Given the description of an element on the screen output the (x, y) to click on. 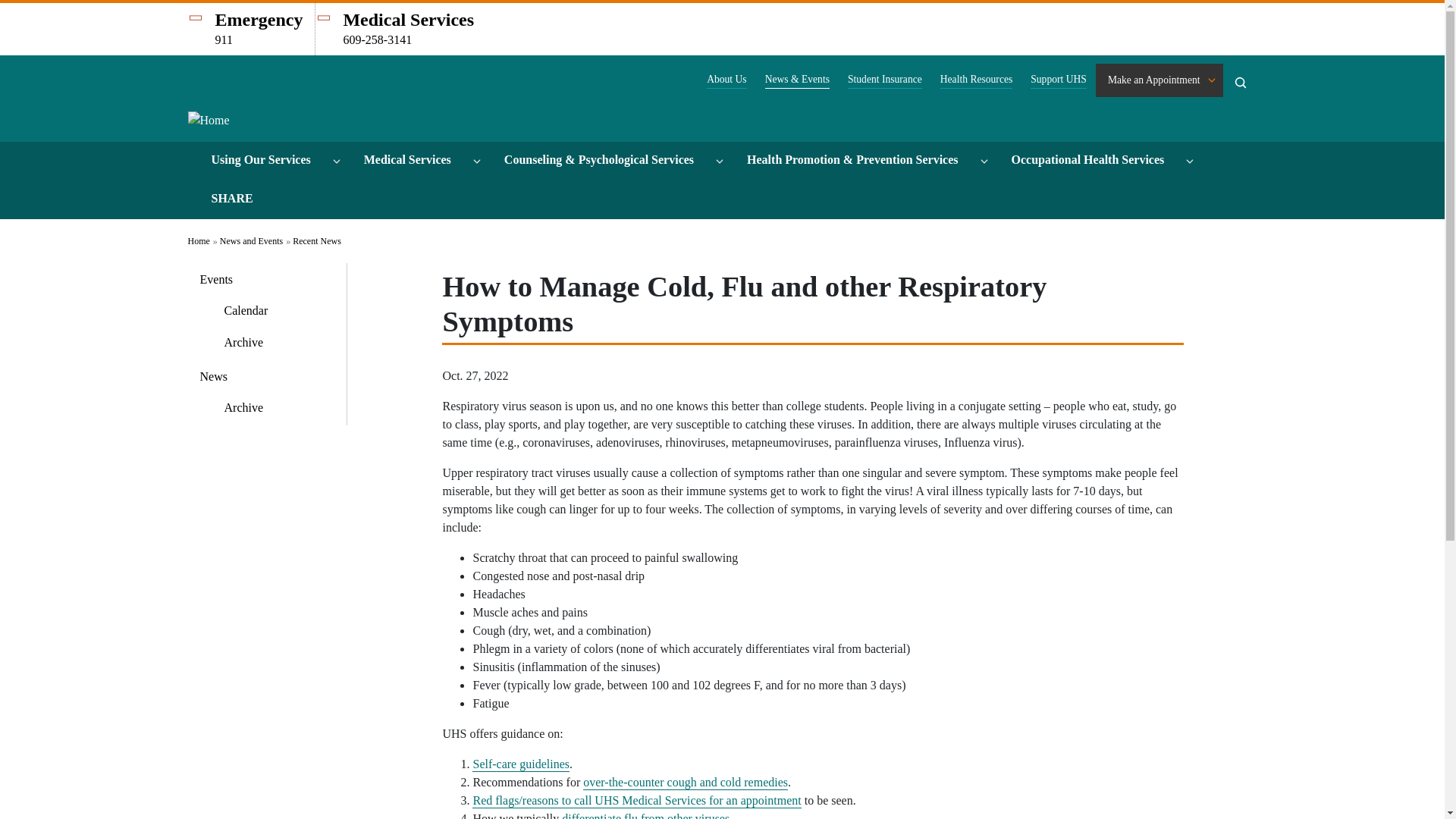
Princeton University (282, 76)
Home (208, 125)
Medical Services (413, 160)
Using Our Services (267, 160)
